Given the description of an element on the screen output the (x, y) to click on. 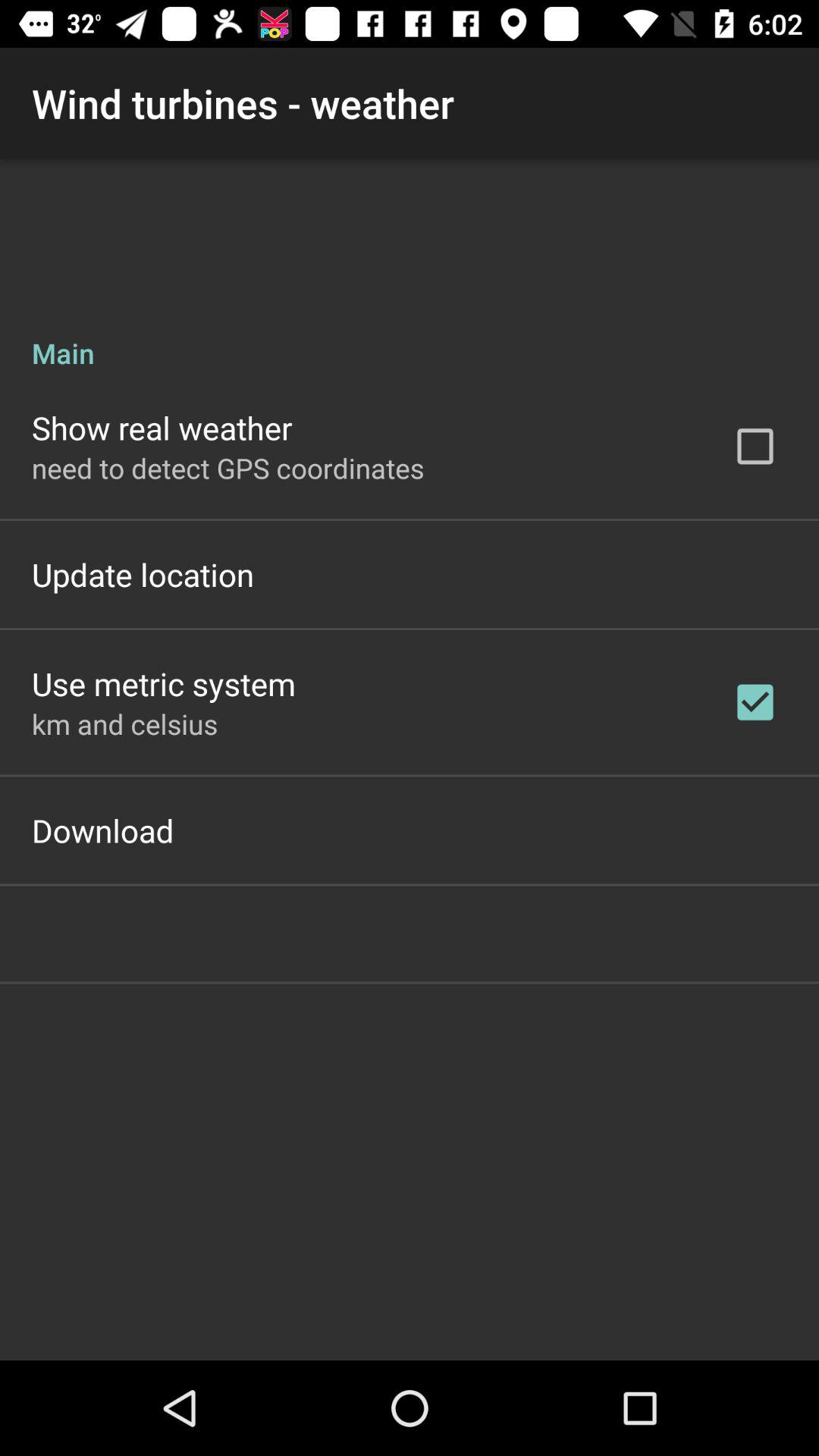
click item below show real weather (227, 467)
